Given the description of an element on the screen output the (x, y) to click on. 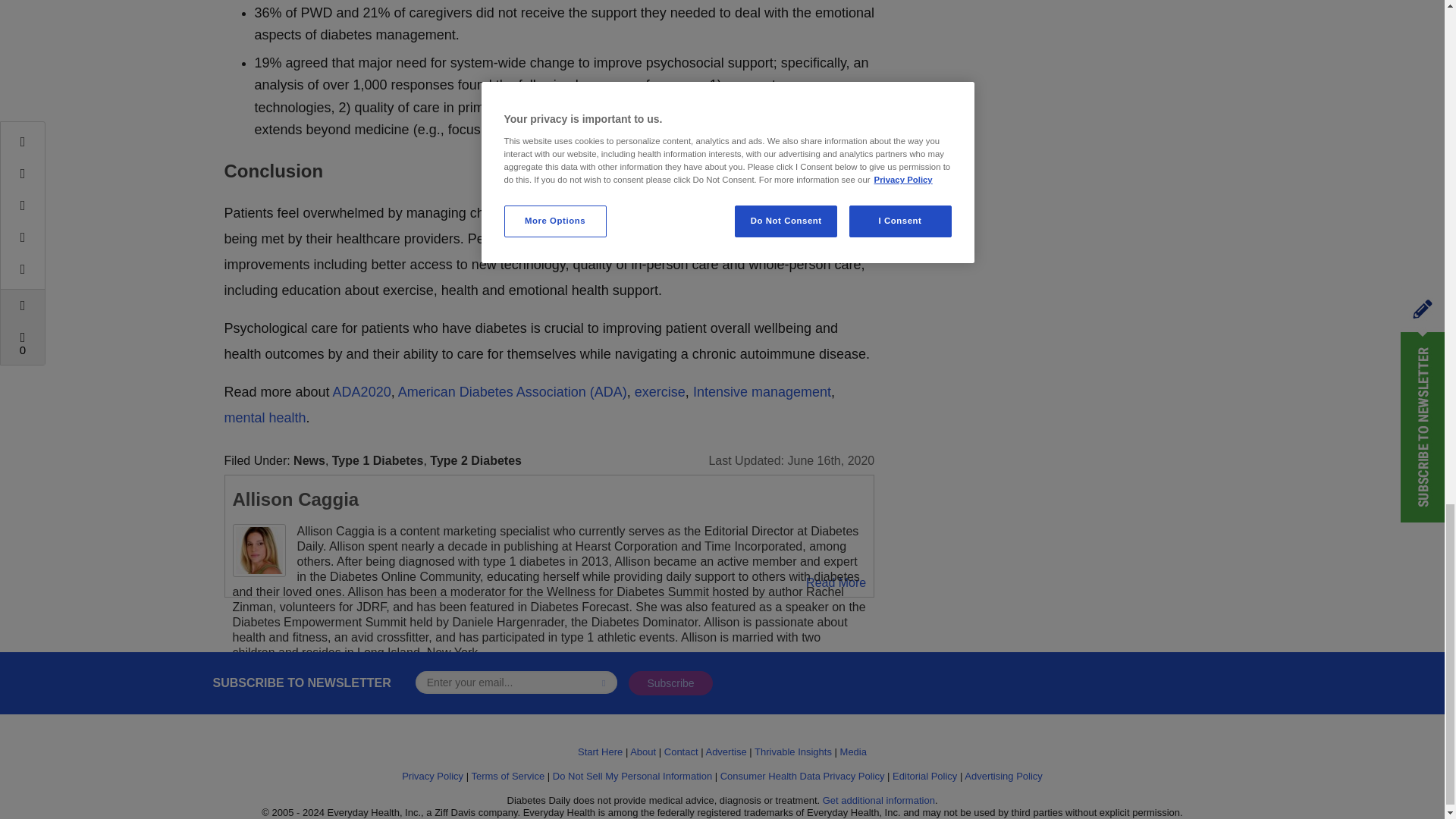
All posts by Allison Caggia (294, 498)
